Given the description of an element on the screen output the (x, y) to click on. 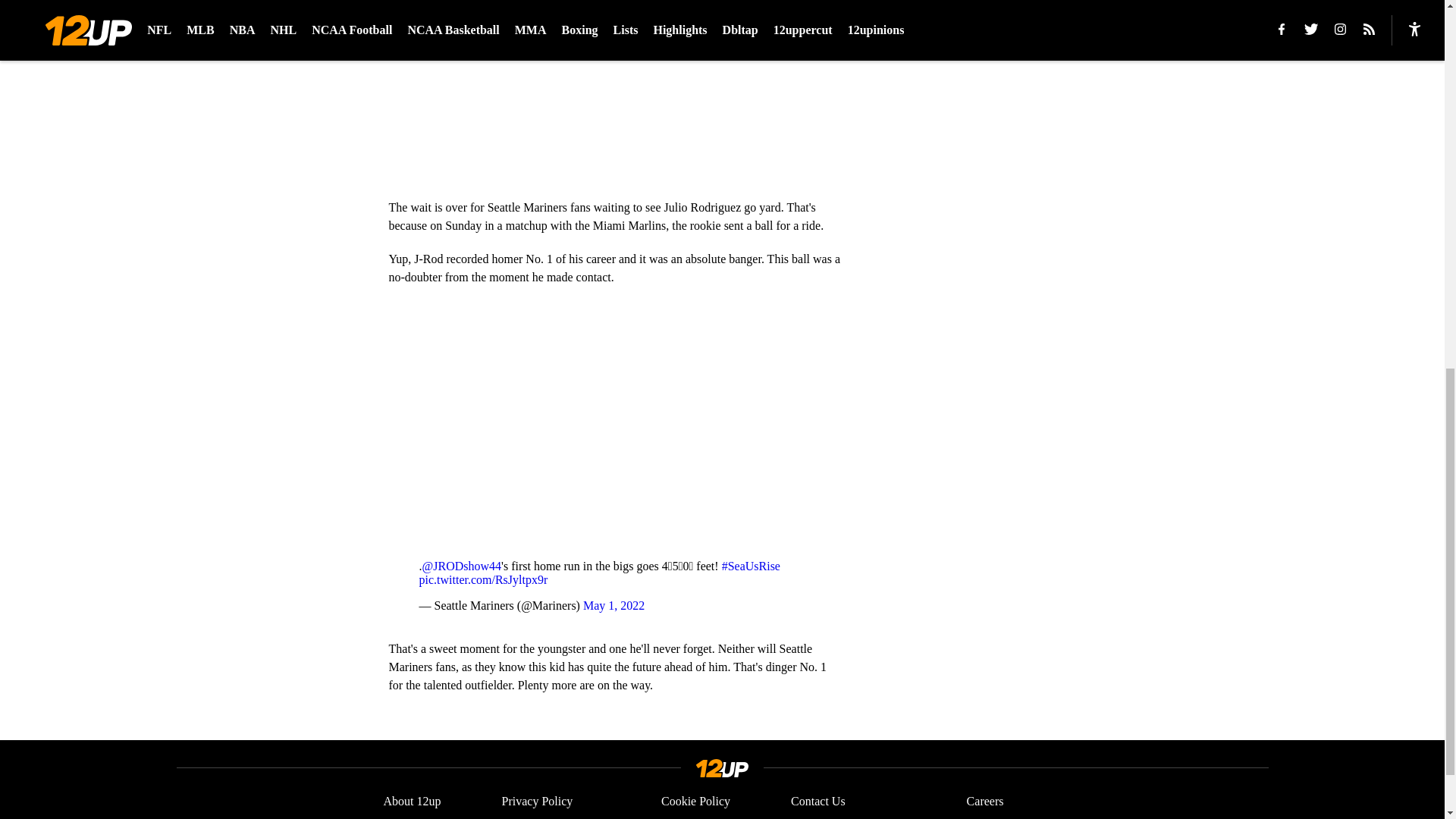
Privacy Policy (537, 800)
About 12up (412, 800)
Contact Us (817, 800)
Cookie Policy (695, 800)
Careers (985, 800)
May 1, 2022 (614, 604)
